Given the description of an element on the screen output the (x, y) to click on. 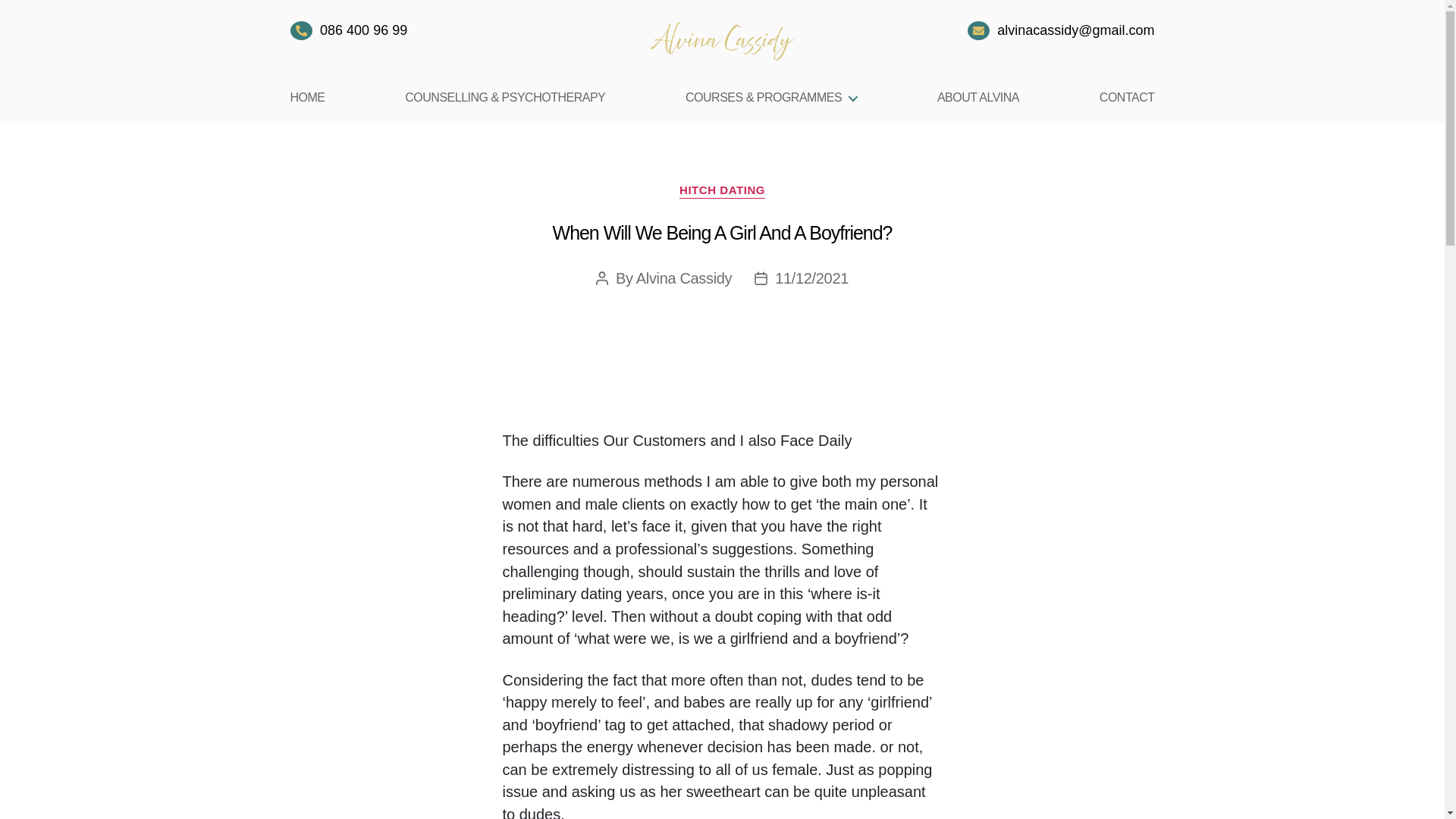
CONTACT (1126, 97)
Alvina Cassidy (684, 278)
ABOUT ALVINA (978, 97)
HITCH DATING (722, 191)
HOME (306, 97)
